Given the description of an element on the screen output the (x, y) to click on. 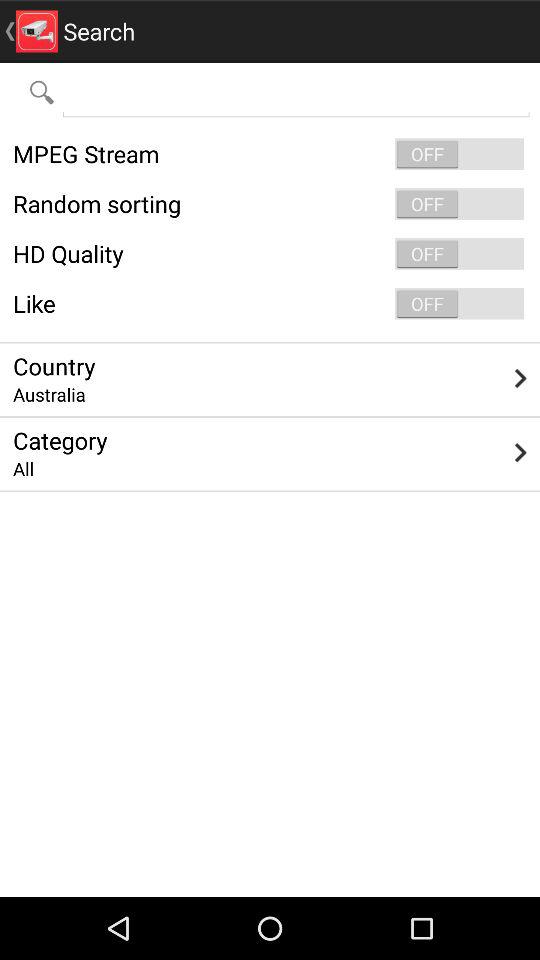
search box (295, 91)
